Given the description of an element on the screen output the (x, y) to click on. 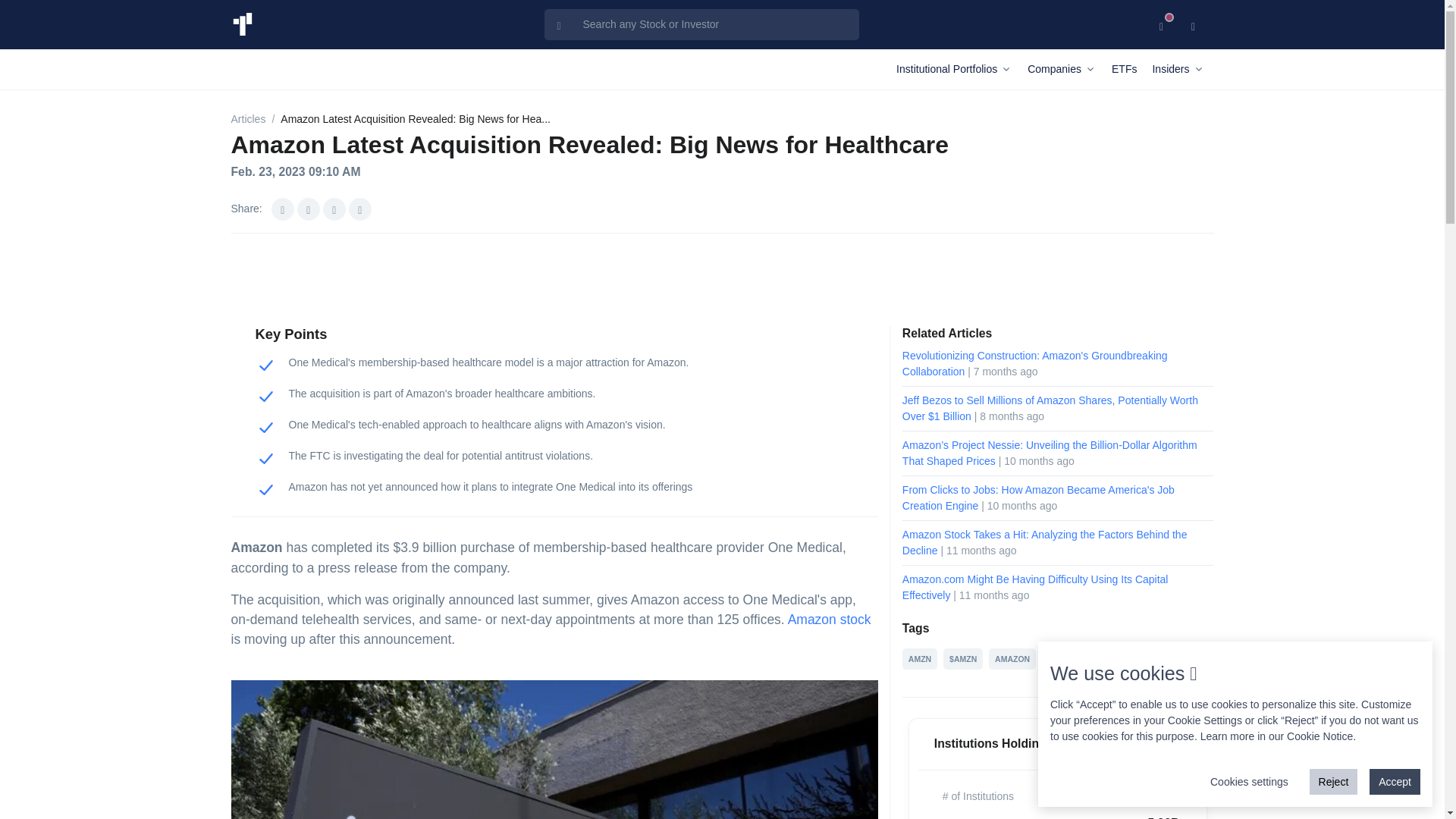
TickerTracker.io (241, 24)
Institutional Portfolios (959, 69)
Companies (1066, 69)
